Given the description of an element on the screen output the (x, y) to click on. 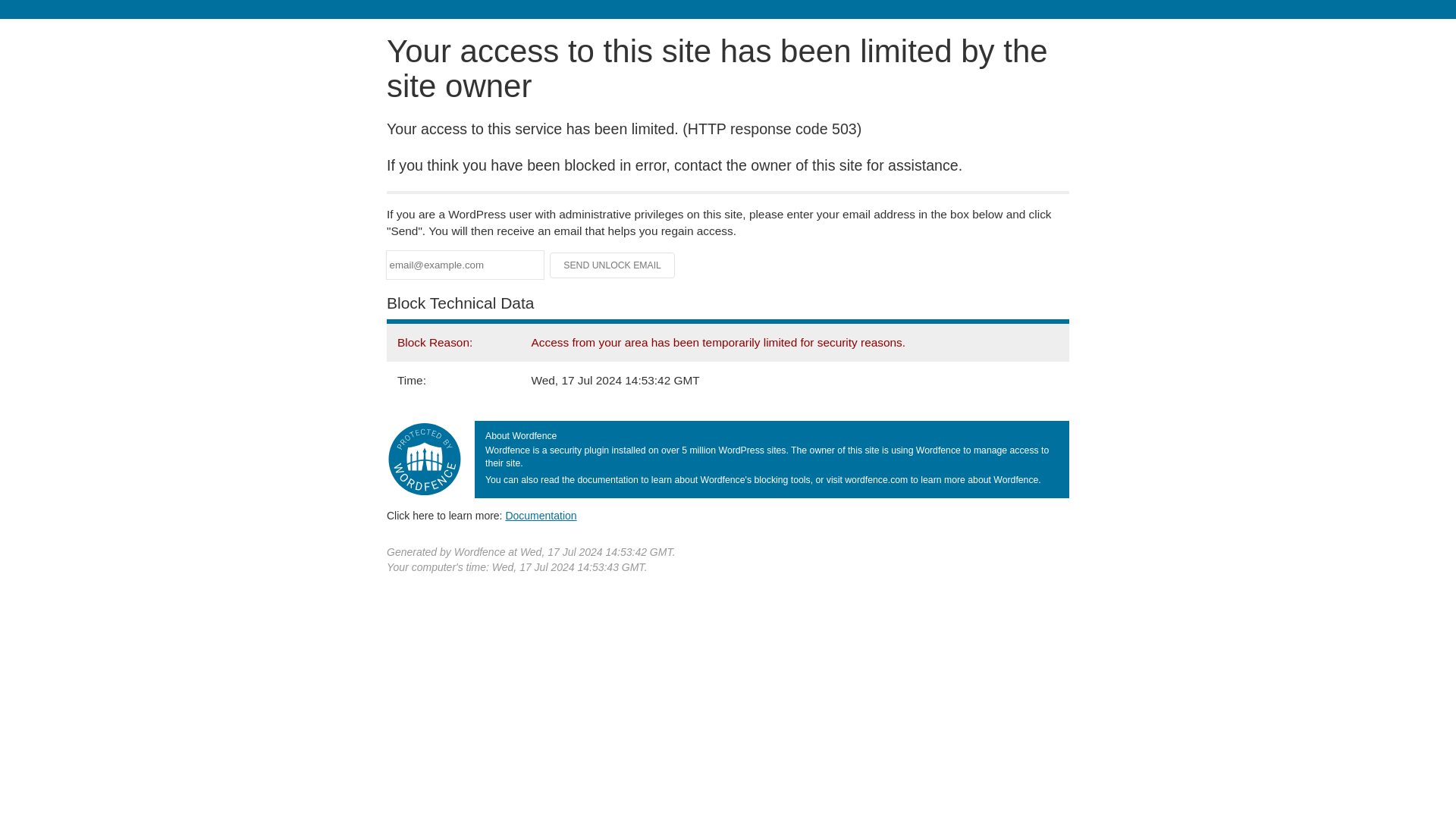
Send Unlock Email (612, 265)
Send Unlock Email (612, 265)
Documentation (540, 515)
